Given the description of an element on the screen output the (x, y) to click on. 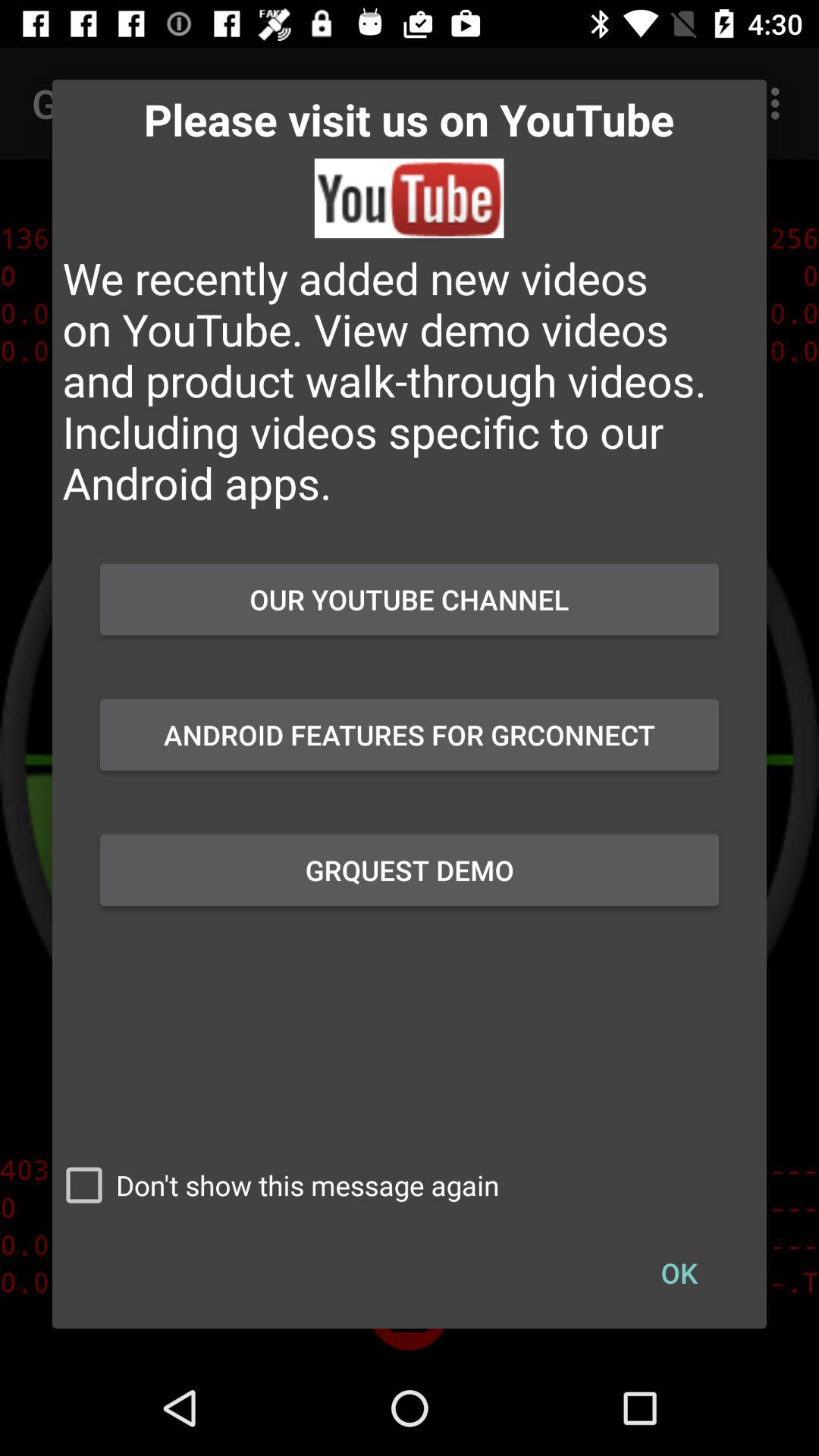
select button below grquest demo (678, 1272)
